Given the description of an element on the screen output the (x, y) to click on. 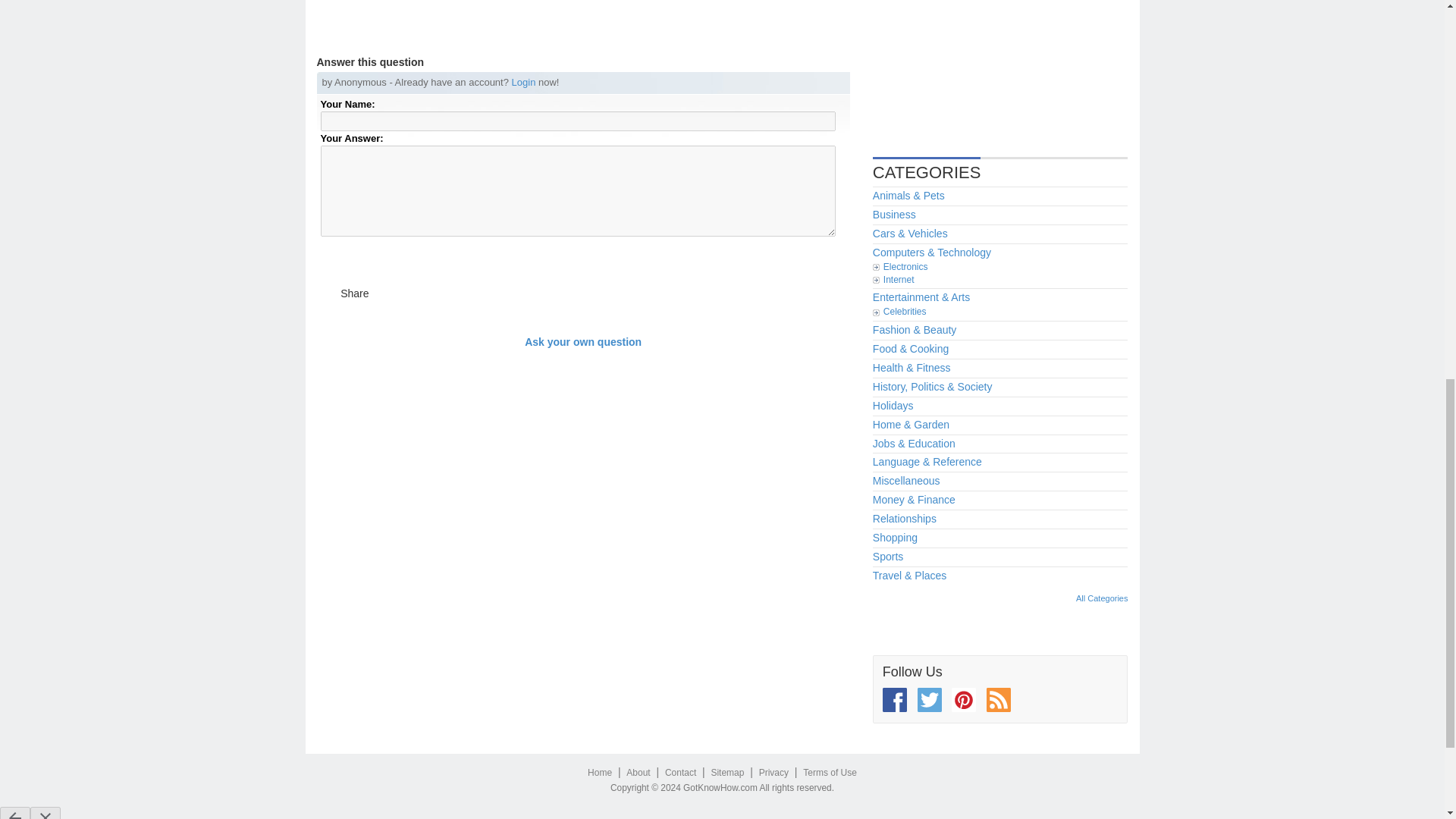
Facebook Page (894, 699)
Advertisement (986, 68)
